Given the description of an element on the screen output the (x, y) to click on. 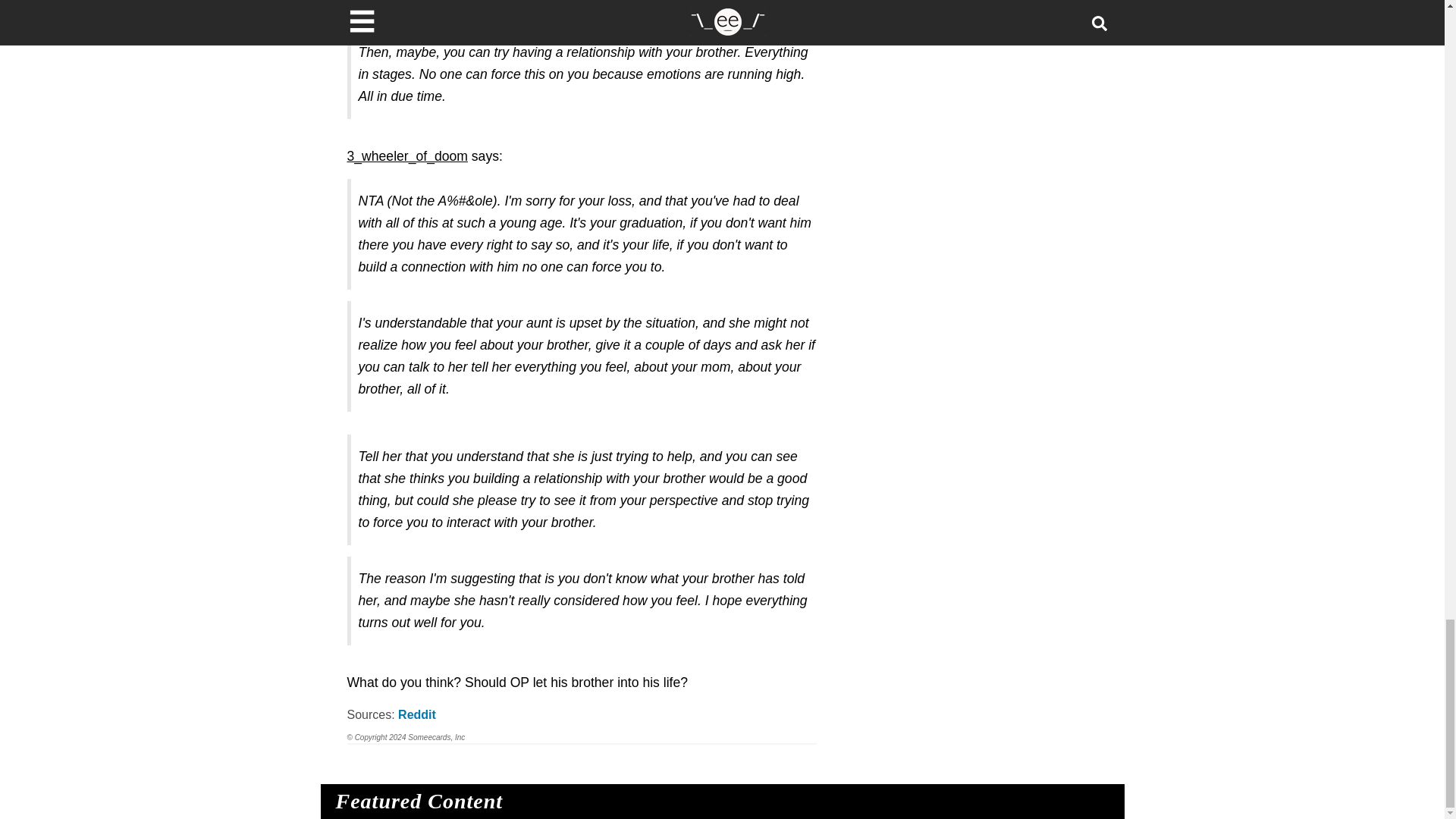
Reddit (416, 714)
